Given the description of an element on the screen output the (x, y) to click on. 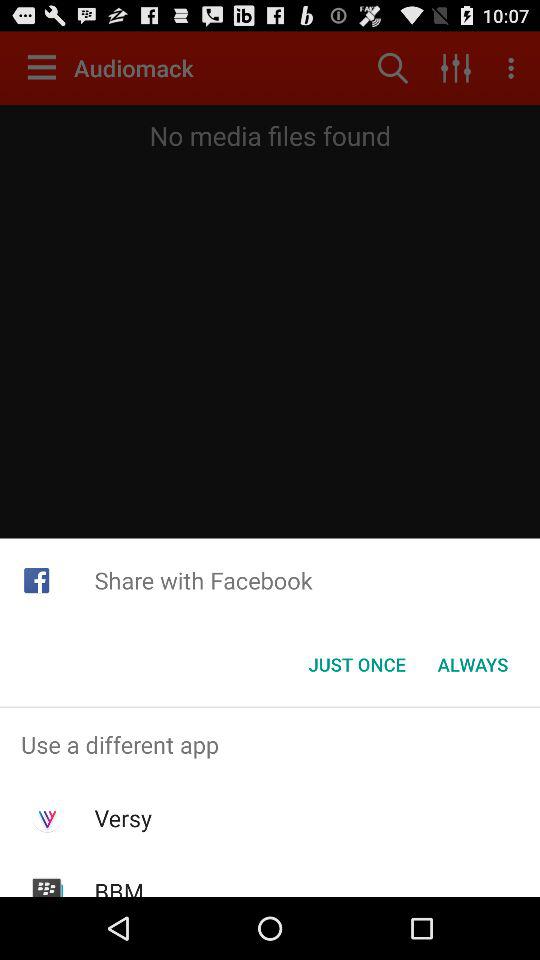
turn off the icon above versy app (270, 744)
